Given the description of an element on the screen output the (x, y) to click on. 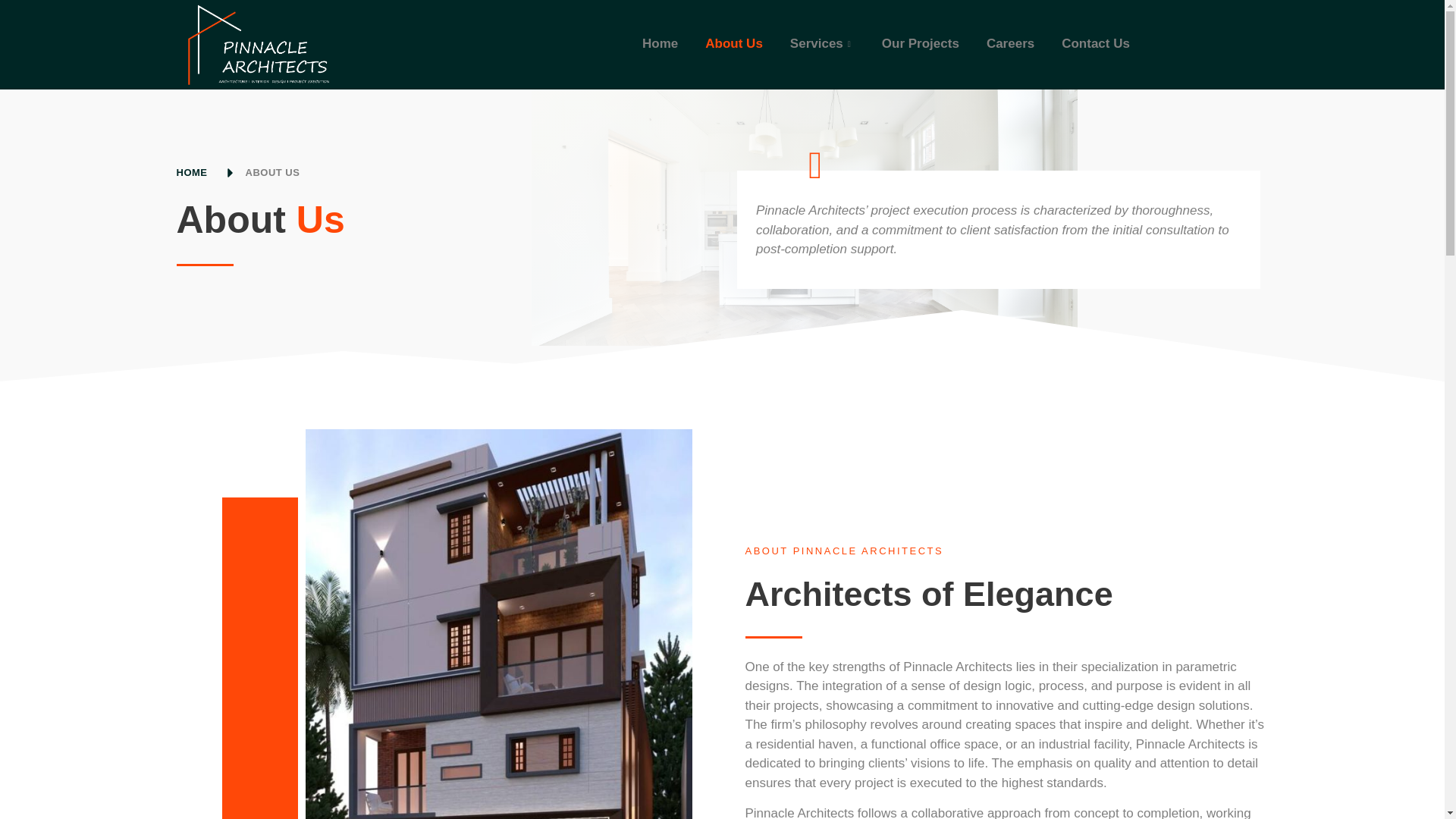
HOME (191, 173)
Contact Us (1095, 44)
About Us (733, 44)
Our Projects (920, 44)
Services (822, 44)
